Given the description of an element on the screen output the (x, y) to click on. 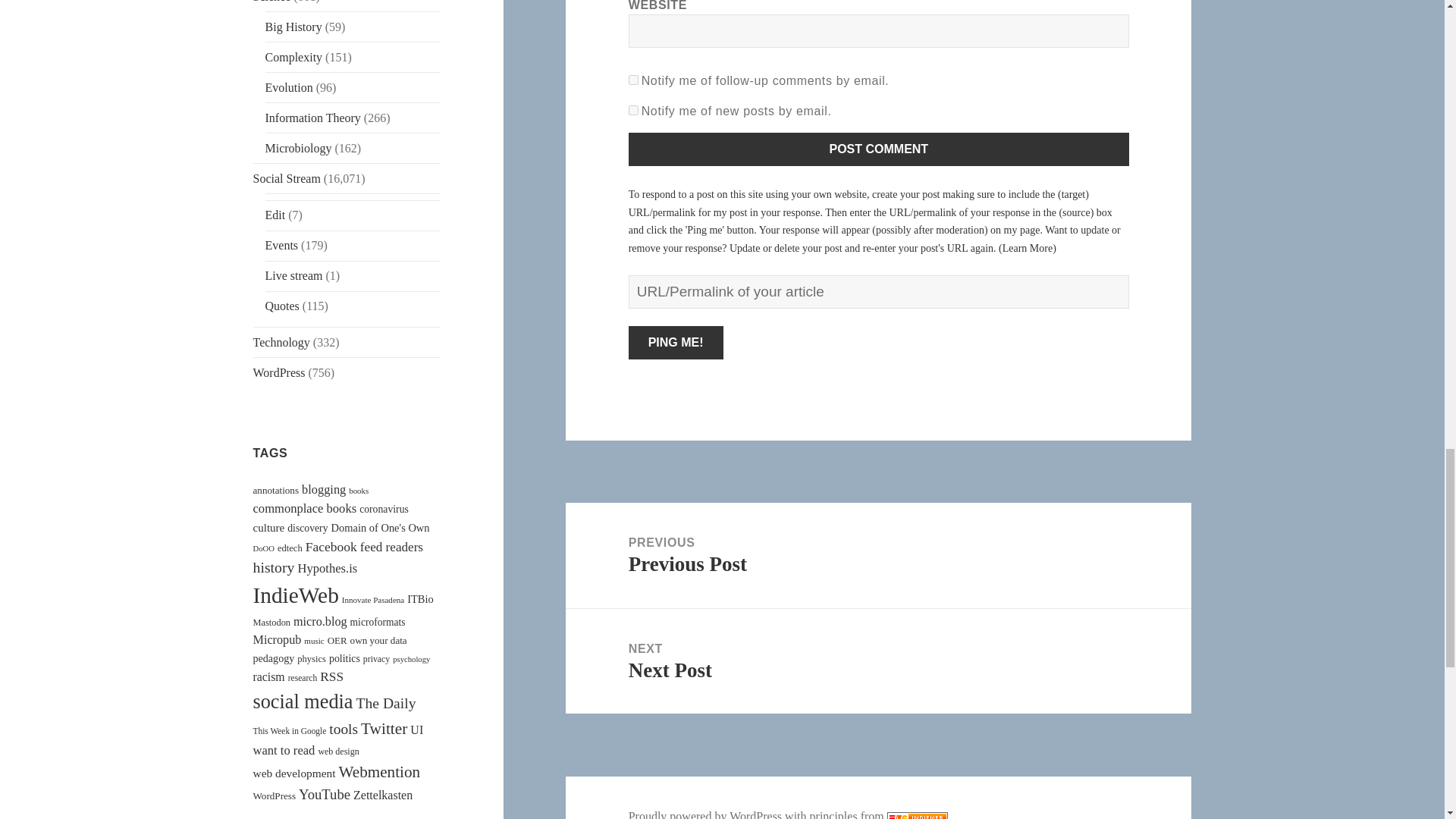
Post Comment (878, 149)
subscribe (633, 80)
Ping me! (675, 342)
subscribe (633, 110)
